Given the description of an element on the screen output the (x, y) to click on. 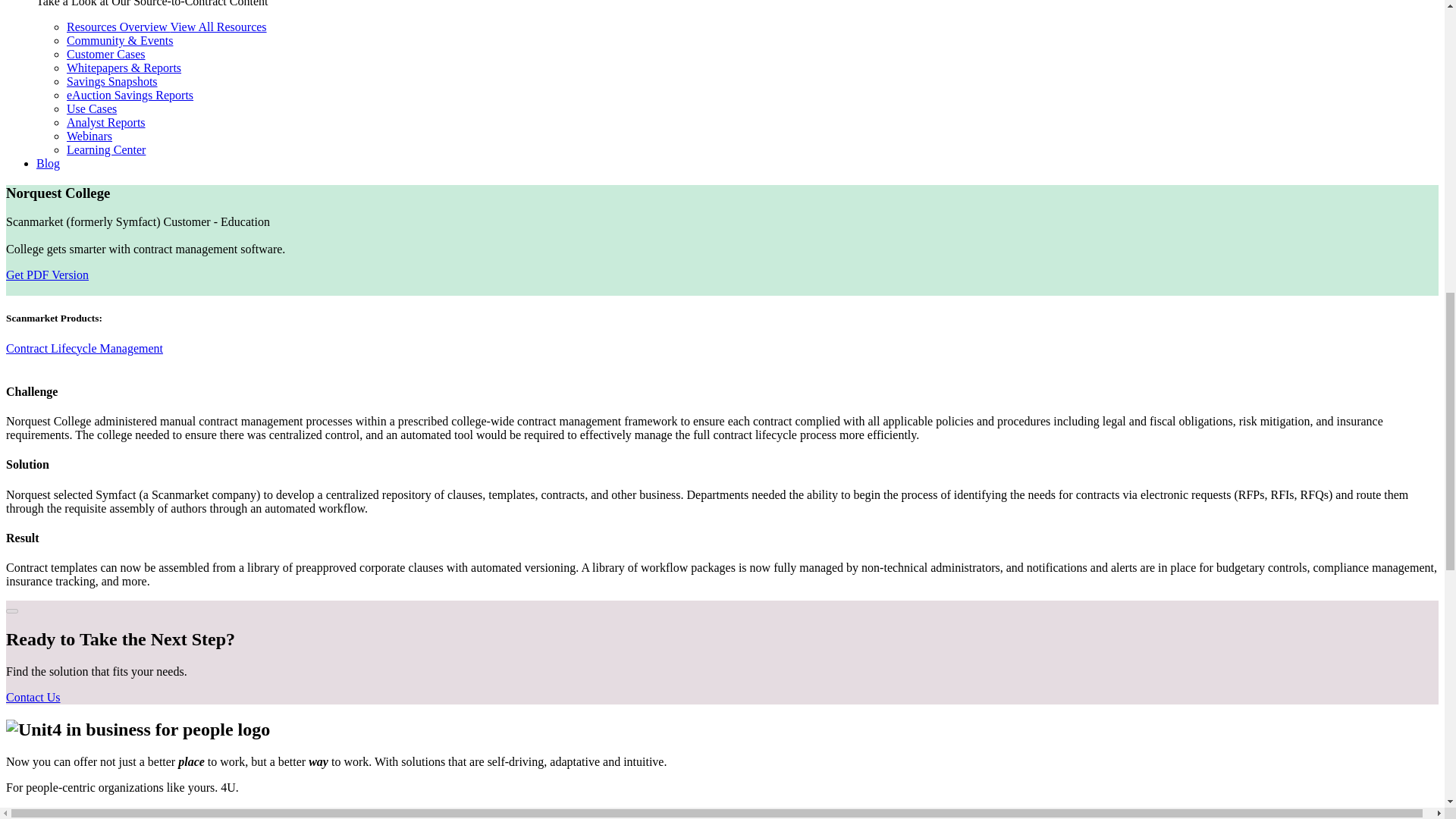
Contract Lifecycle Management (84, 348)
Customer Cases (105, 53)
Get PDF Version (46, 274)
Webinars (89, 135)
Savings Snapshots (111, 81)
Contact Us (33, 697)
Analyst Reports (105, 122)
Blog (47, 163)
Resources Overview View All Resources (166, 26)
Learning Center (105, 149)
eAuction Savings Reports (129, 94)
Use Cases (91, 108)
